Given the description of an element on the screen output the (x, y) to click on. 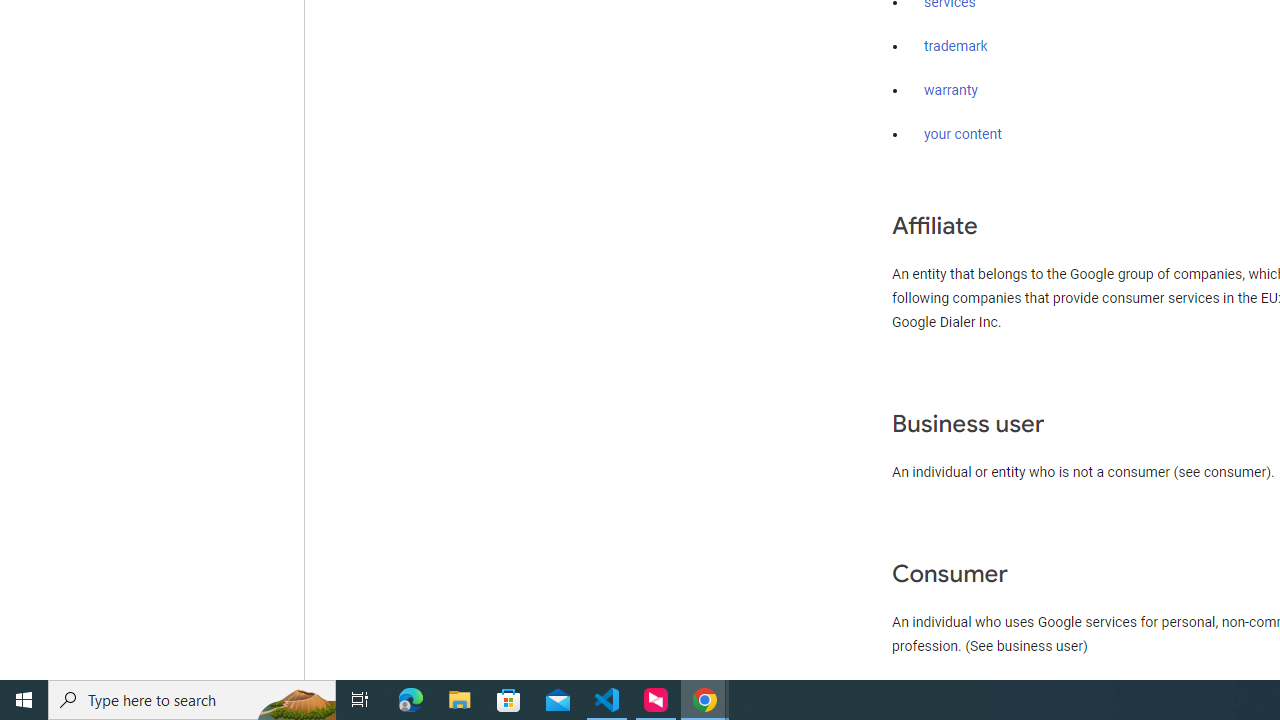
your content (963, 134)
warranty (950, 91)
trademark (956, 47)
